Given the description of an element on the screen output the (x, y) to click on. 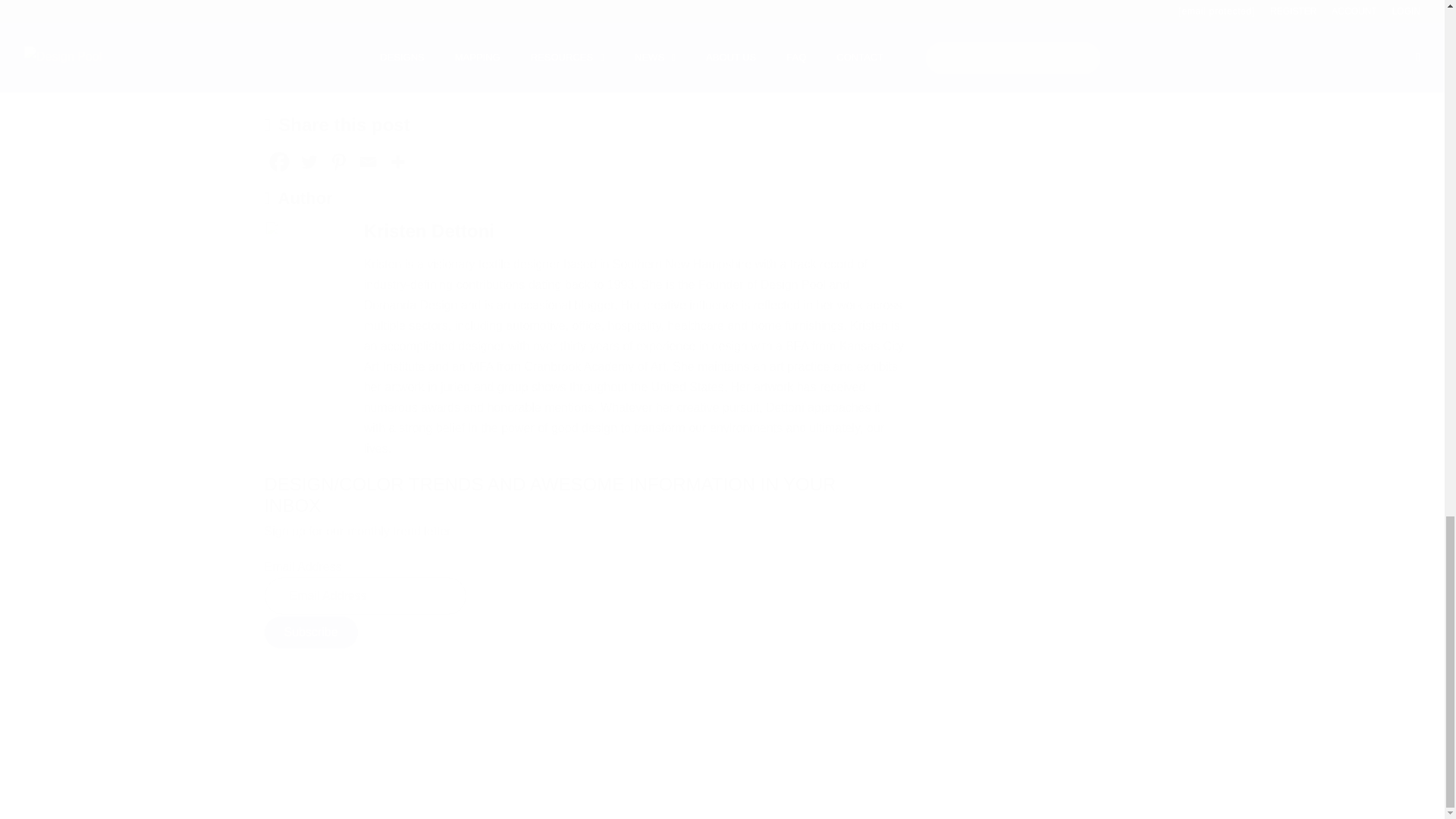
Email (368, 161)
Pinterest (337, 161)
Subscribe (309, 632)
Facebook (278, 161)
More (397, 161)
Twitter (308, 161)
